Given the description of an element on the screen output the (x, y) to click on. 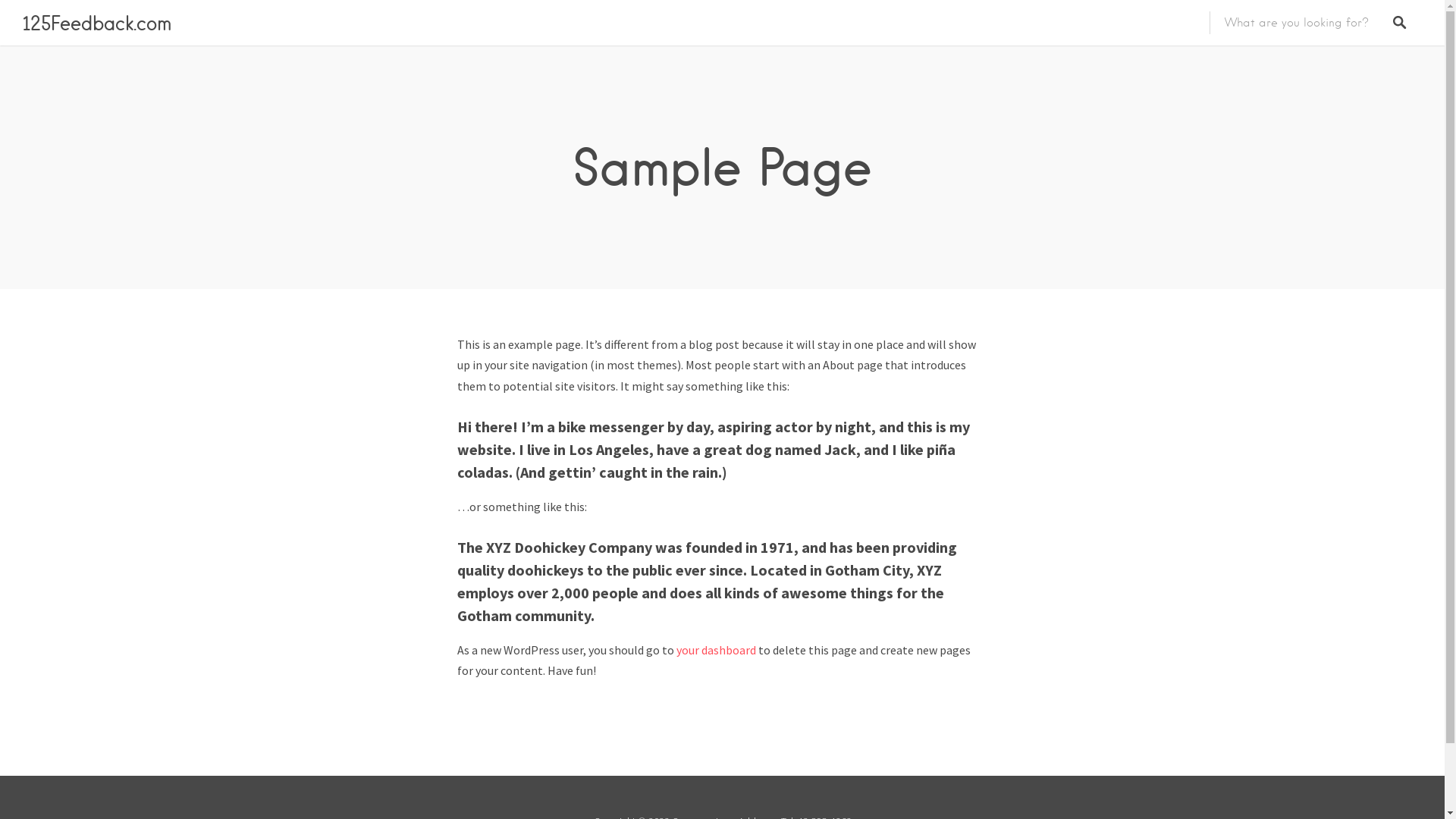
your dashboard Element type: text (716, 649)
125Feedback.com Element type: text (96, 22)
